Given the description of an element on the screen output the (x, y) to click on. 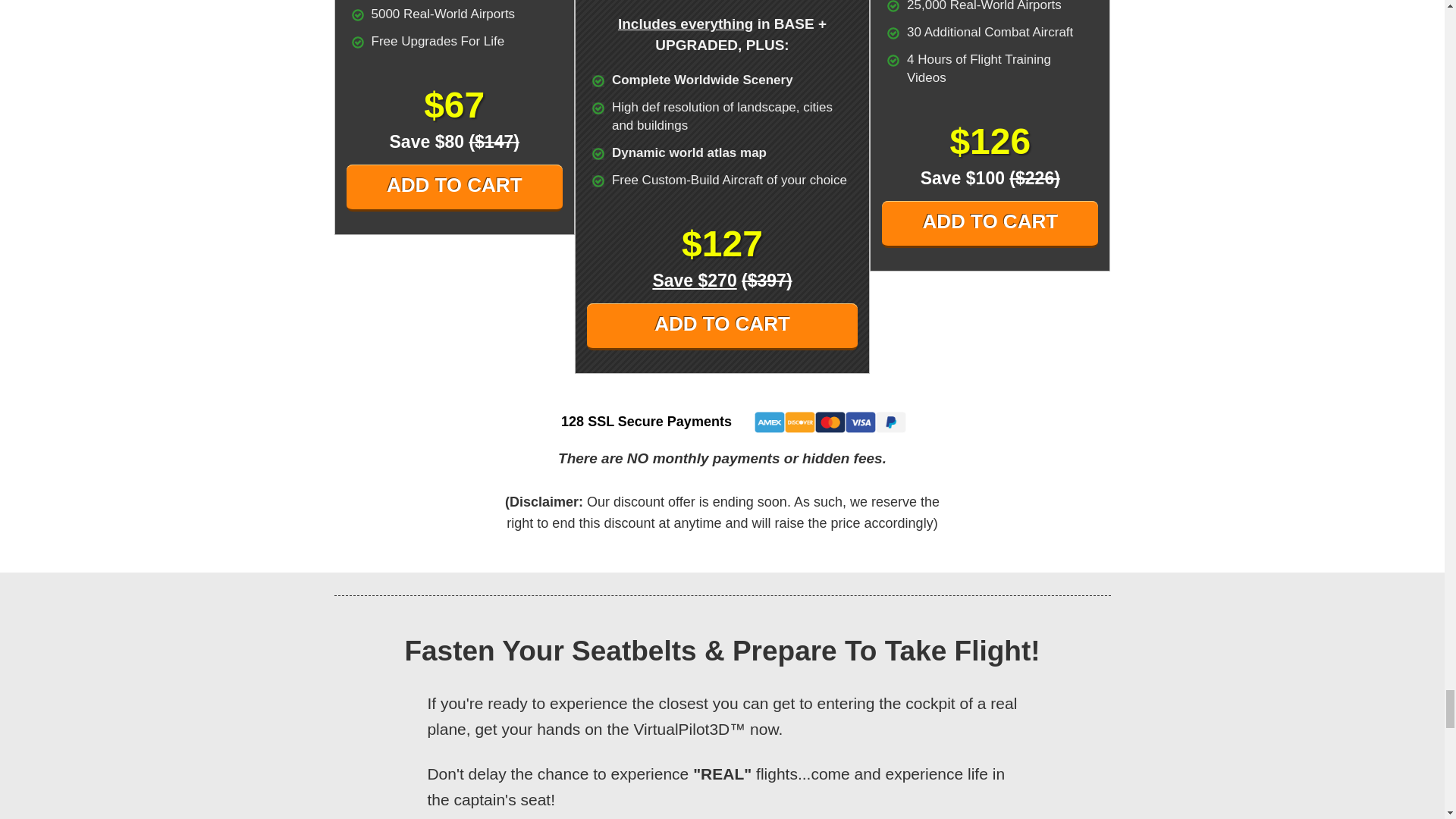
ADD TO CART (454, 187)
ADD TO CART (721, 326)
ADD TO CART (989, 224)
